Given the description of an element on the screen output the (x, y) to click on. 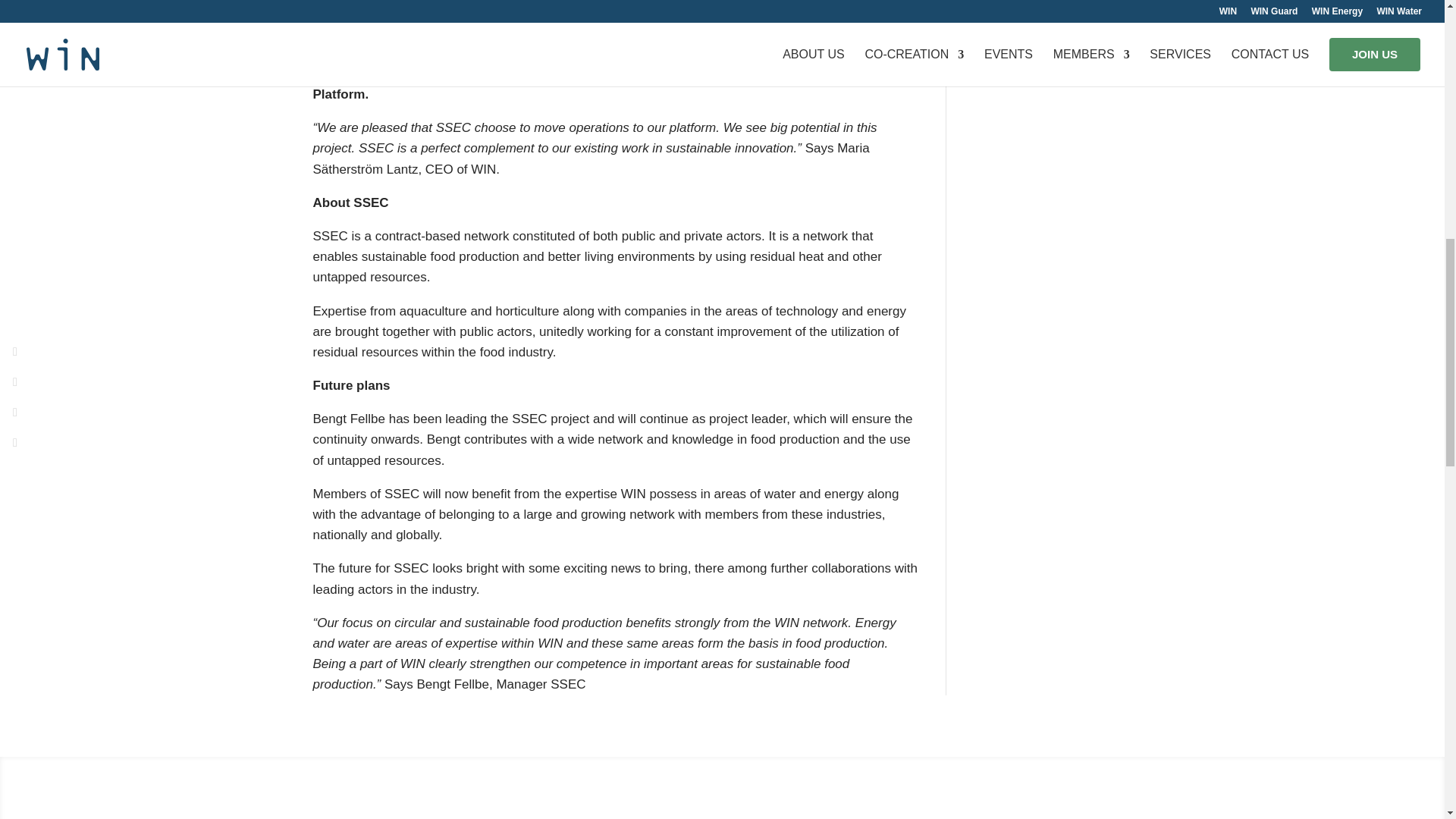
Bengt (616, 4)
